Given the description of an element on the screen output the (x, y) to click on. 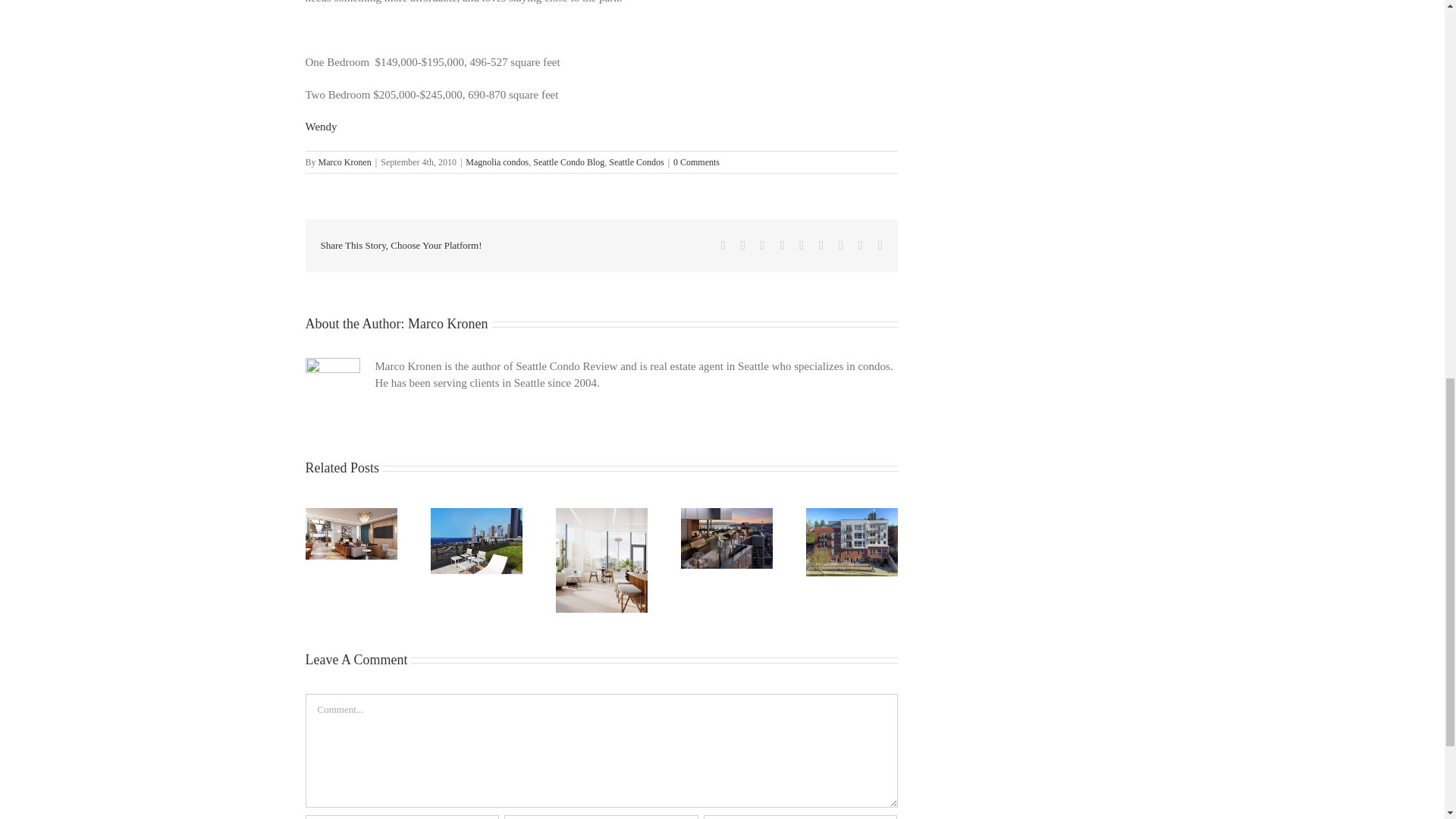
Magnolia condos (496, 162)
The 2021 Collection at KODA (476, 540)
Seattle Condos (635, 162)
Facebook (722, 245)
Wendy (320, 126)
Posts by Marco Kronen (447, 323)
Spire Condominiums Offering Buyer Incentives (600, 560)
Seattle Condo Blog (568, 162)
Posts by Marco Kronen (344, 162)
Twitter (743, 245)
Marco Kronen (344, 162)
0 Comments (695, 162)
Reddit (762, 245)
